Given the description of an element on the screen output the (x, y) to click on. 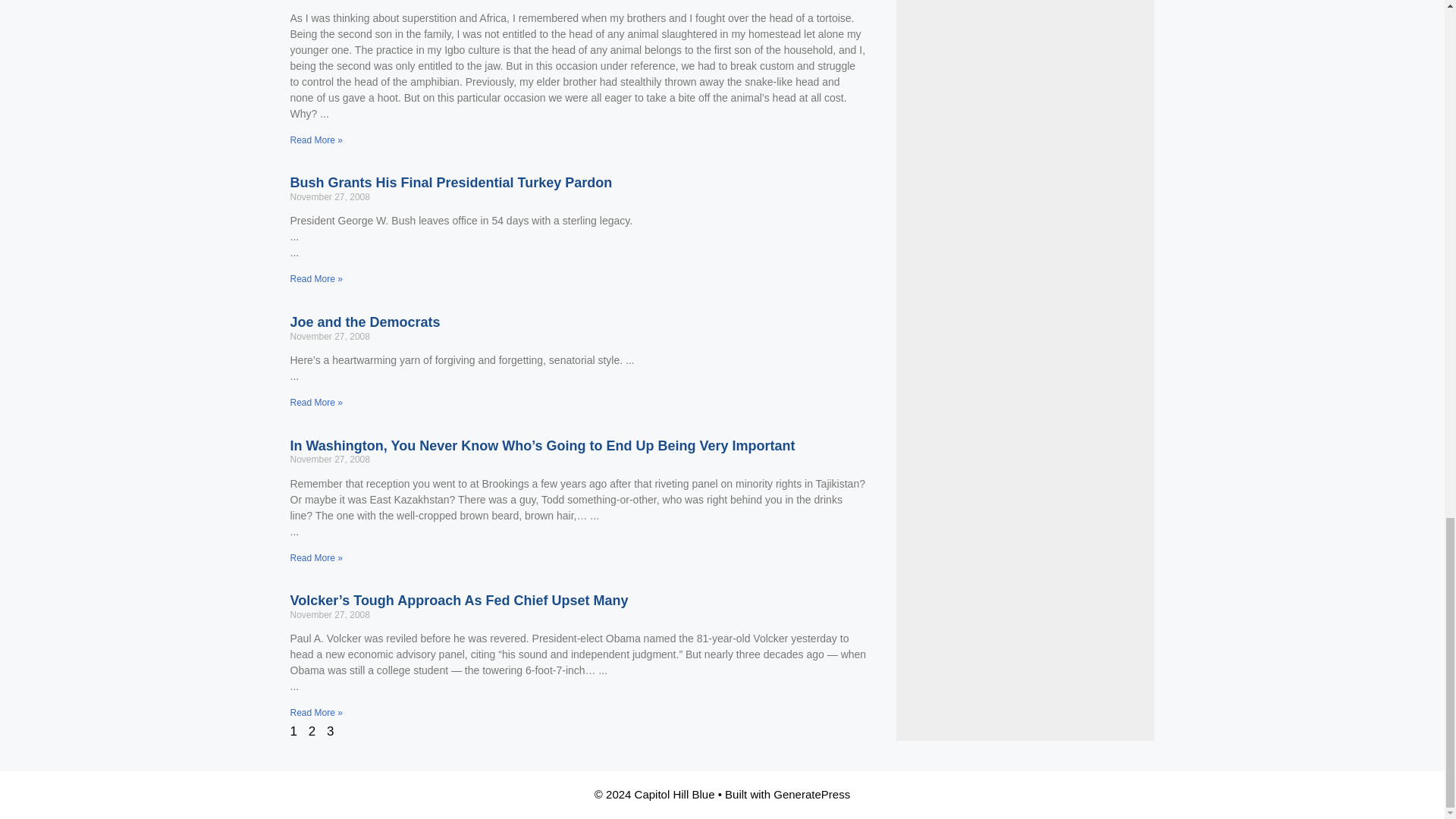
Joe and the Democrats (364, 322)
Bush Grants His Final Presidential Turkey Pardon (450, 182)
